Given the description of an element on the screen output the (x, y) to click on. 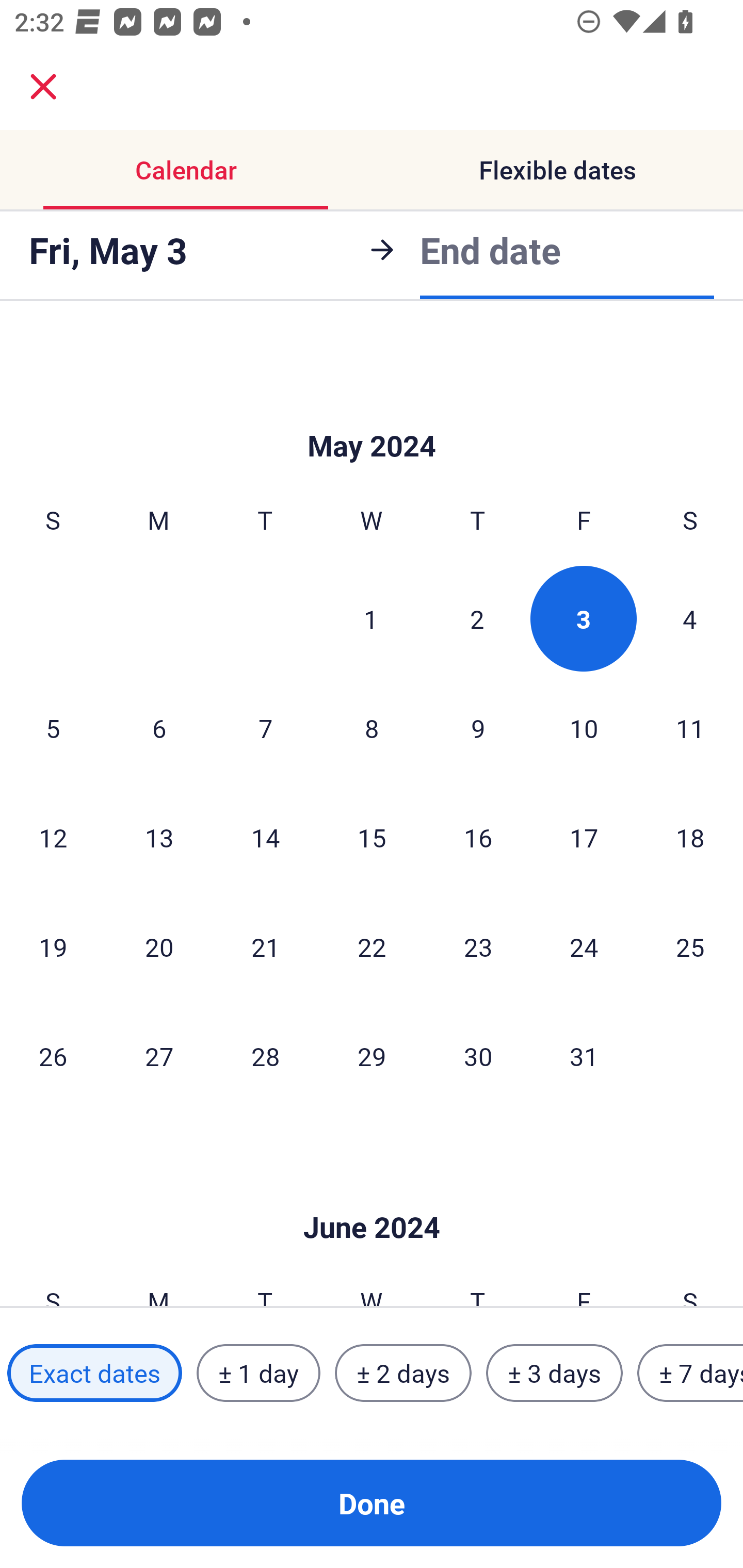
close. (43, 86)
Flexible dates (557, 170)
End date (489, 249)
Skip to Done (371, 414)
1 Wednesday, May 1, 2024 (371, 618)
2 Thursday, May 2, 2024 (477, 618)
4 Saturday, May 4, 2024 (689, 618)
5 Sunday, May 5, 2024 (53, 727)
6 Monday, May 6, 2024 (159, 727)
7 Tuesday, May 7, 2024 (265, 727)
8 Wednesday, May 8, 2024 (371, 727)
9 Thursday, May 9, 2024 (477, 727)
10 Friday, May 10, 2024 (584, 727)
11 Saturday, May 11, 2024 (690, 727)
12 Sunday, May 12, 2024 (53, 837)
13 Monday, May 13, 2024 (159, 837)
14 Tuesday, May 14, 2024 (265, 837)
15 Wednesday, May 15, 2024 (371, 837)
16 Thursday, May 16, 2024 (477, 837)
17 Friday, May 17, 2024 (584, 837)
18 Saturday, May 18, 2024 (690, 837)
19 Sunday, May 19, 2024 (53, 946)
20 Monday, May 20, 2024 (159, 946)
21 Tuesday, May 21, 2024 (265, 946)
22 Wednesday, May 22, 2024 (371, 946)
23 Thursday, May 23, 2024 (477, 946)
24 Friday, May 24, 2024 (584, 946)
25 Saturday, May 25, 2024 (690, 946)
26 Sunday, May 26, 2024 (53, 1055)
27 Monday, May 27, 2024 (159, 1055)
28 Tuesday, May 28, 2024 (265, 1055)
29 Wednesday, May 29, 2024 (371, 1055)
30 Thursday, May 30, 2024 (477, 1055)
31 Friday, May 31, 2024 (584, 1055)
Skip to Done (371, 1197)
Exact dates (94, 1372)
± 1 day (258, 1372)
± 2 days (403, 1372)
± 3 days (553, 1372)
± 7 days (690, 1372)
Done (371, 1502)
